Given the description of an element on the screen output the (x, y) to click on. 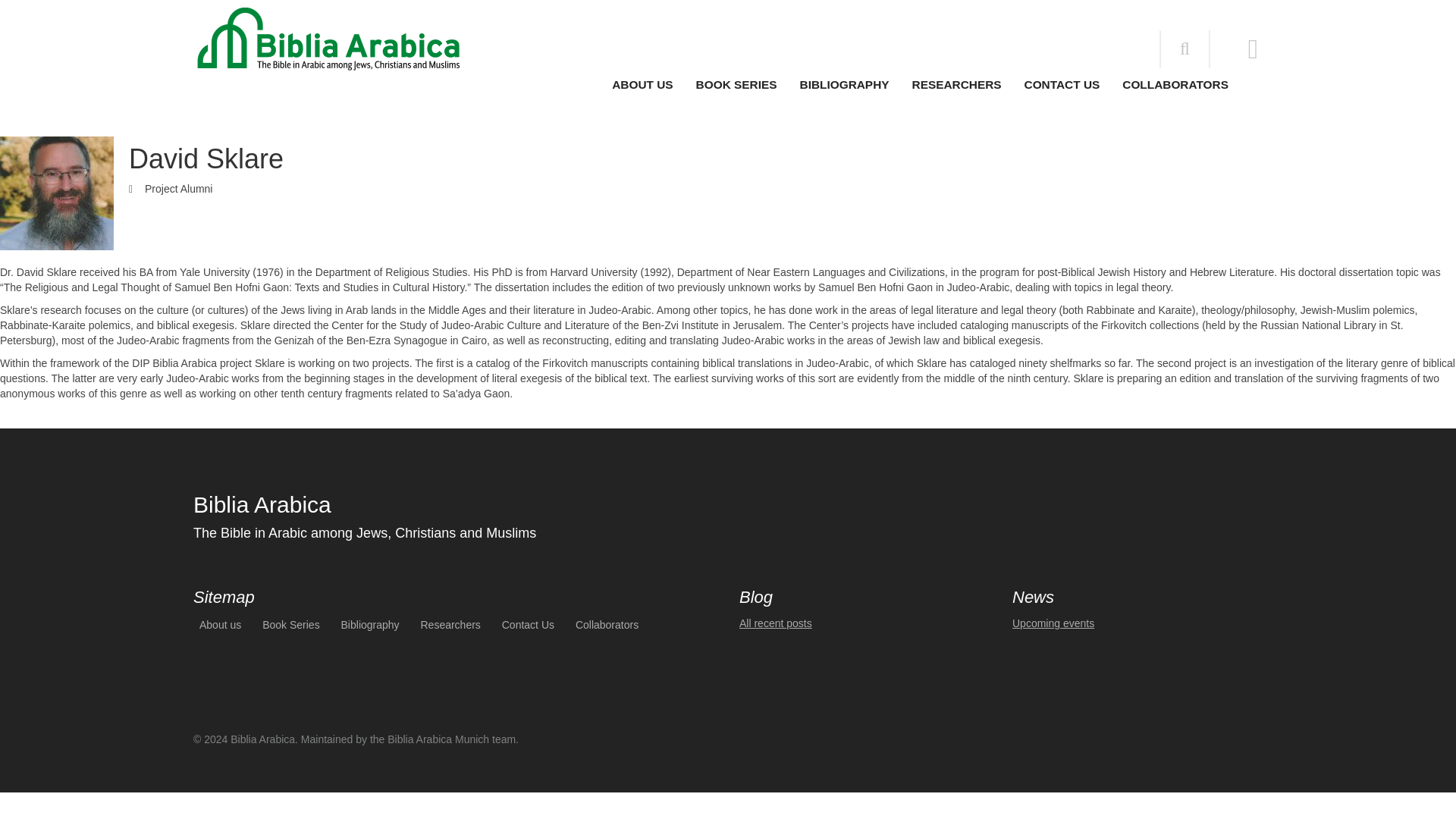
RESEARCHERS (957, 84)
About us (220, 625)
COLLABORATORS (1175, 84)
Collaborators (607, 625)
Upcoming events (1052, 623)
Book Series (290, 625)
All recent posts (775, 623)
Contact Us (528, 625)
BIBLIOGRAPHY (845, 84)
CONTACT US (1062, 84)
